Given the description of an element on the screen output the (x, y) to click on. 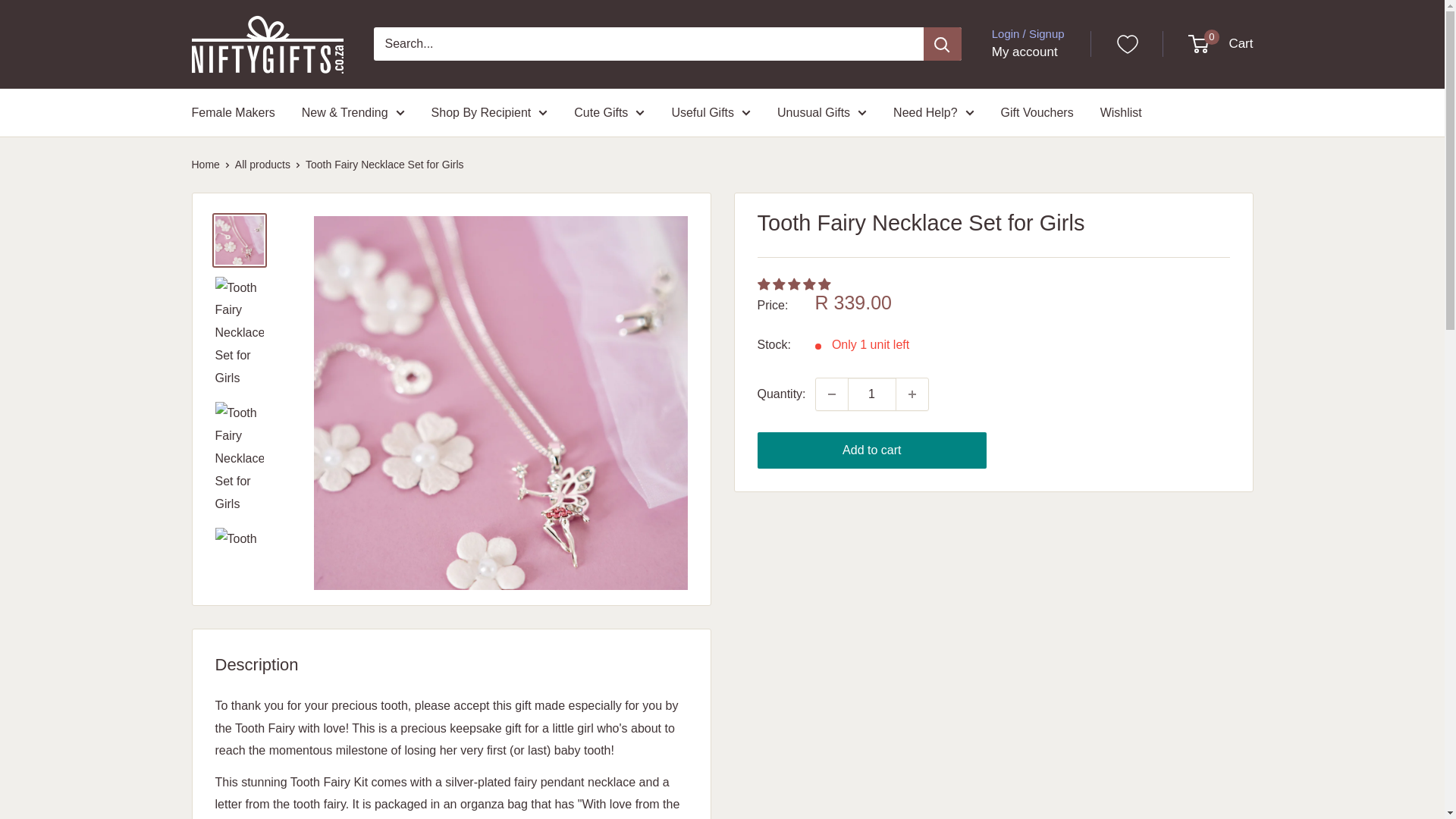
Decrease quantity by 1 (831, 394)
Increase quantity by 1 (912, 394)
1 (871, 394)
